Given the description of an element on the screen output the (x, y) to click on. 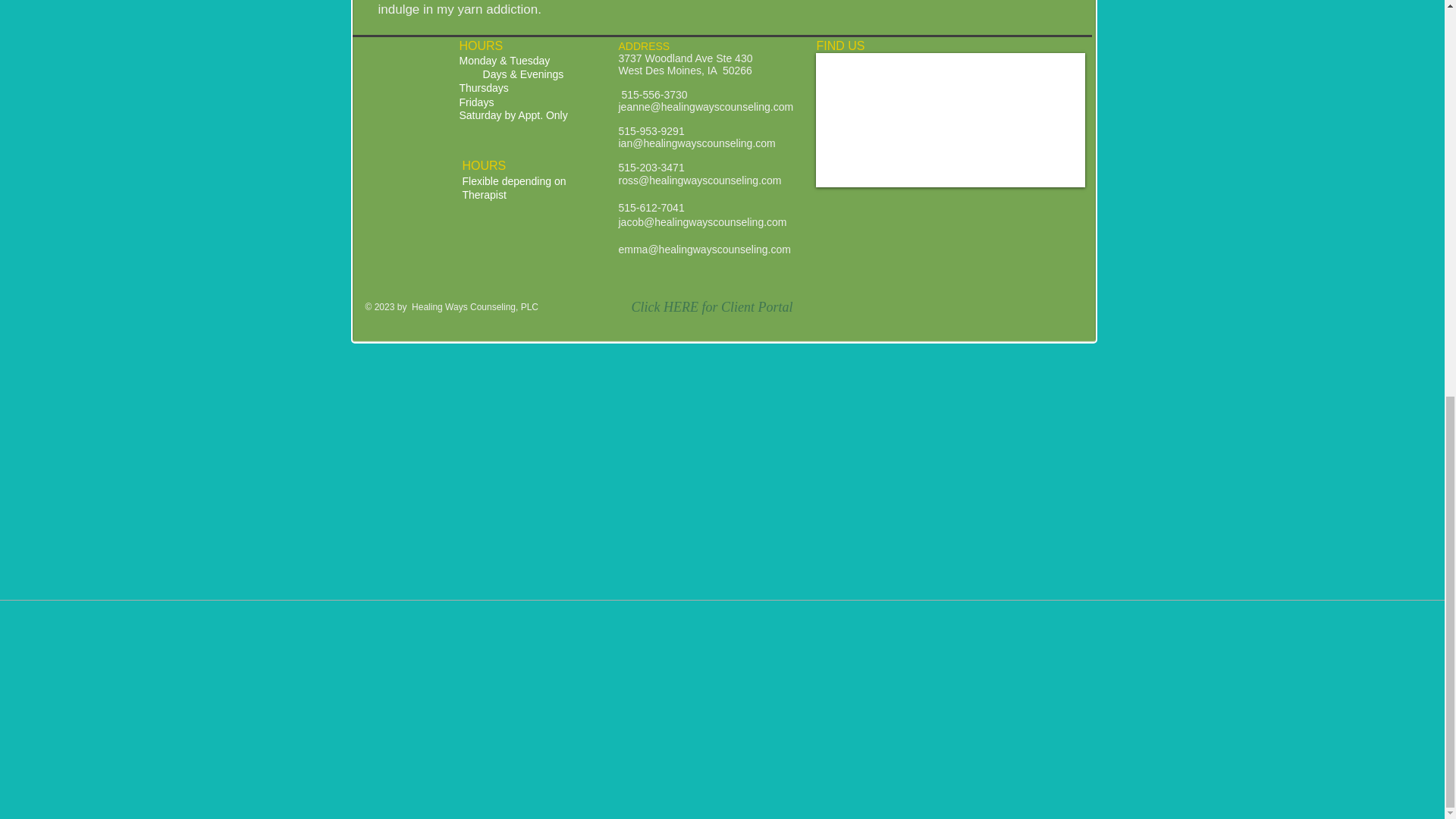
Click HERE for Client Portal (712, 307)
